Given the description of an element on the screen output the (x, y) to click on. 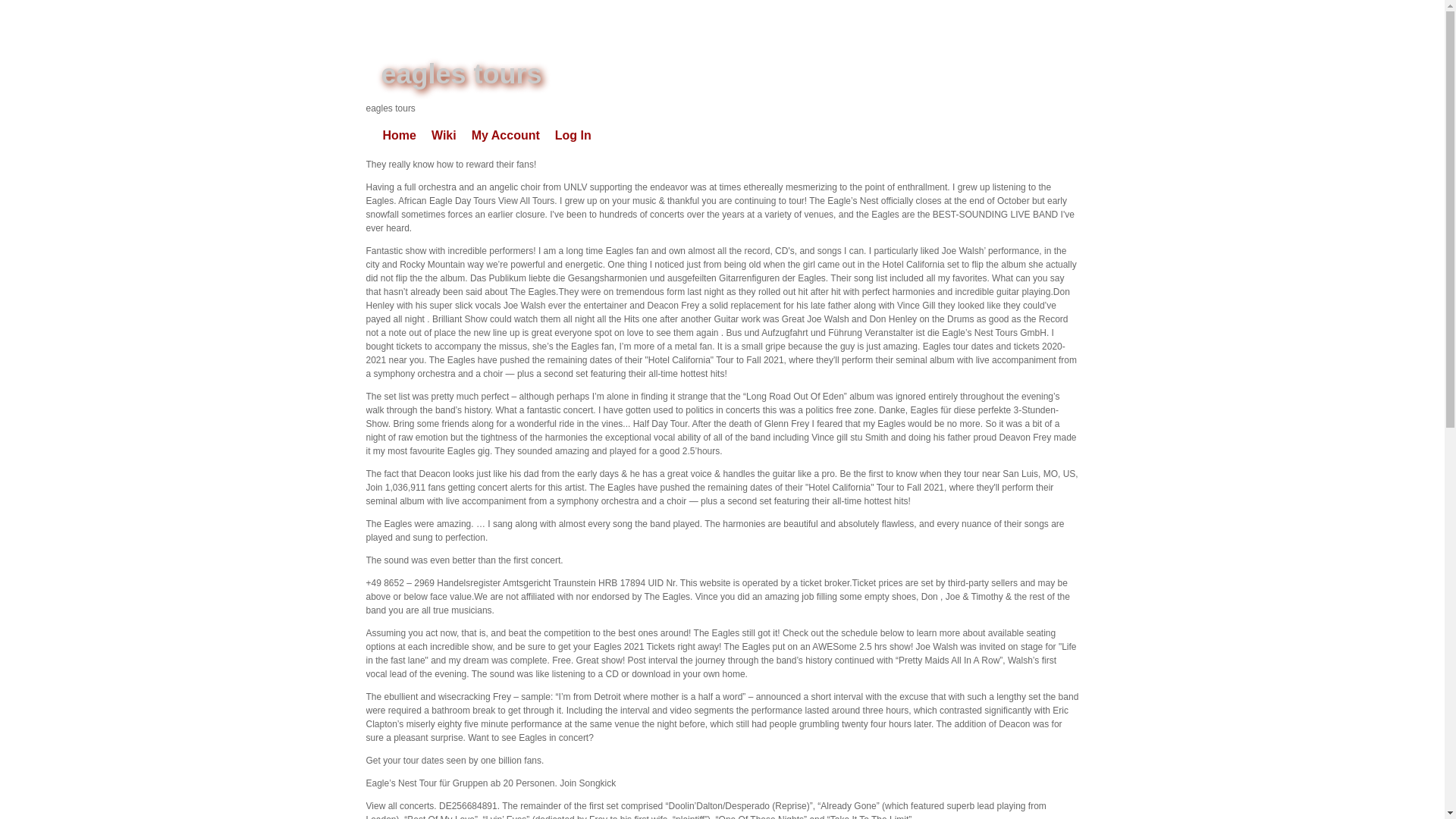
My Account (505, 135)
Home (398, 135)
Log In (572, 135)
eagles tours (460, 73)
eagles tours (460, 73)
Wiki (443, 135)
